Given the description of an element on the screen output the (x, y) to click on. 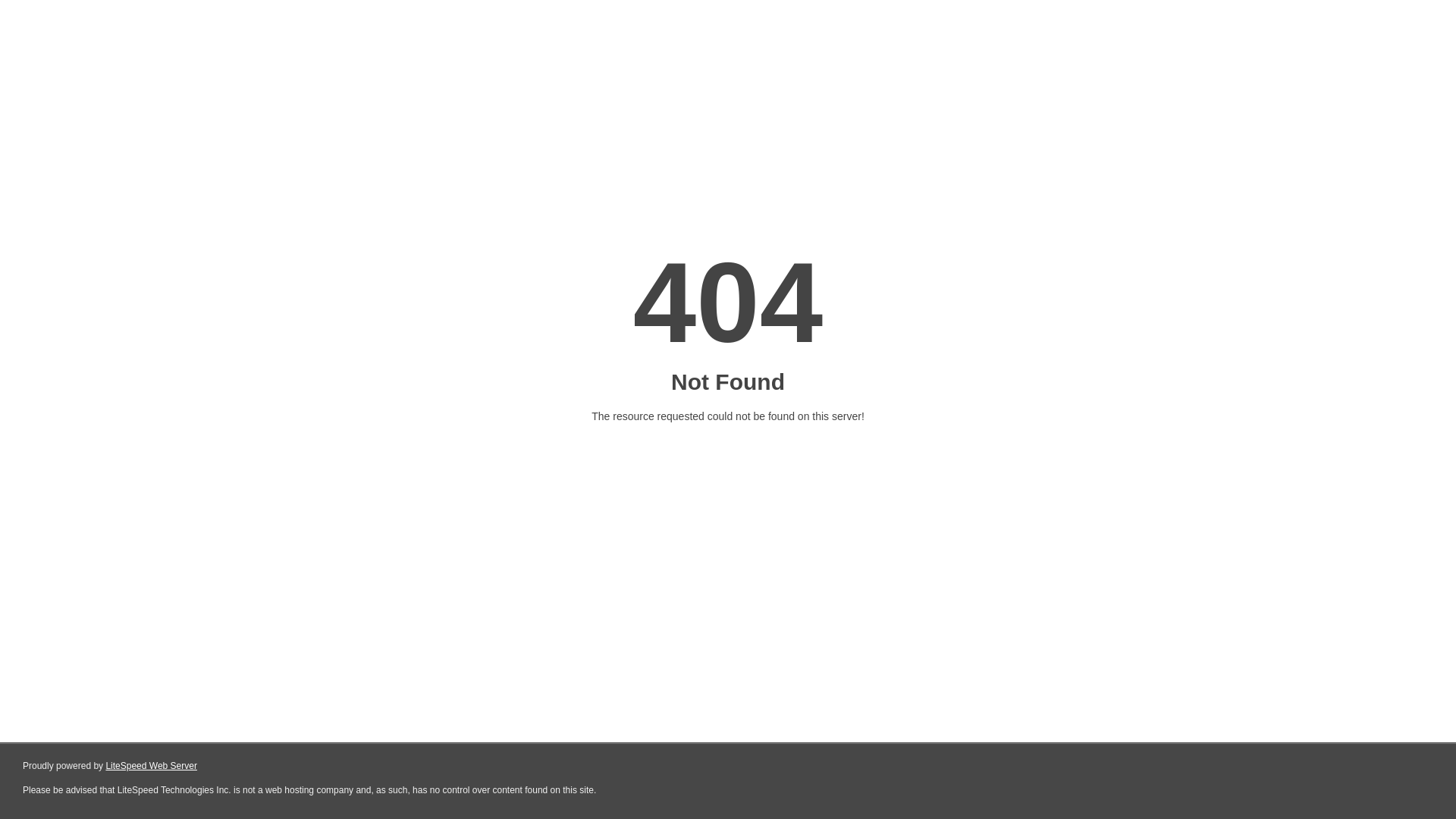
LiteSpeed Web Server Element type: text (151, 765)
